Given the description of an element on the screen output the (x, y) to click on. 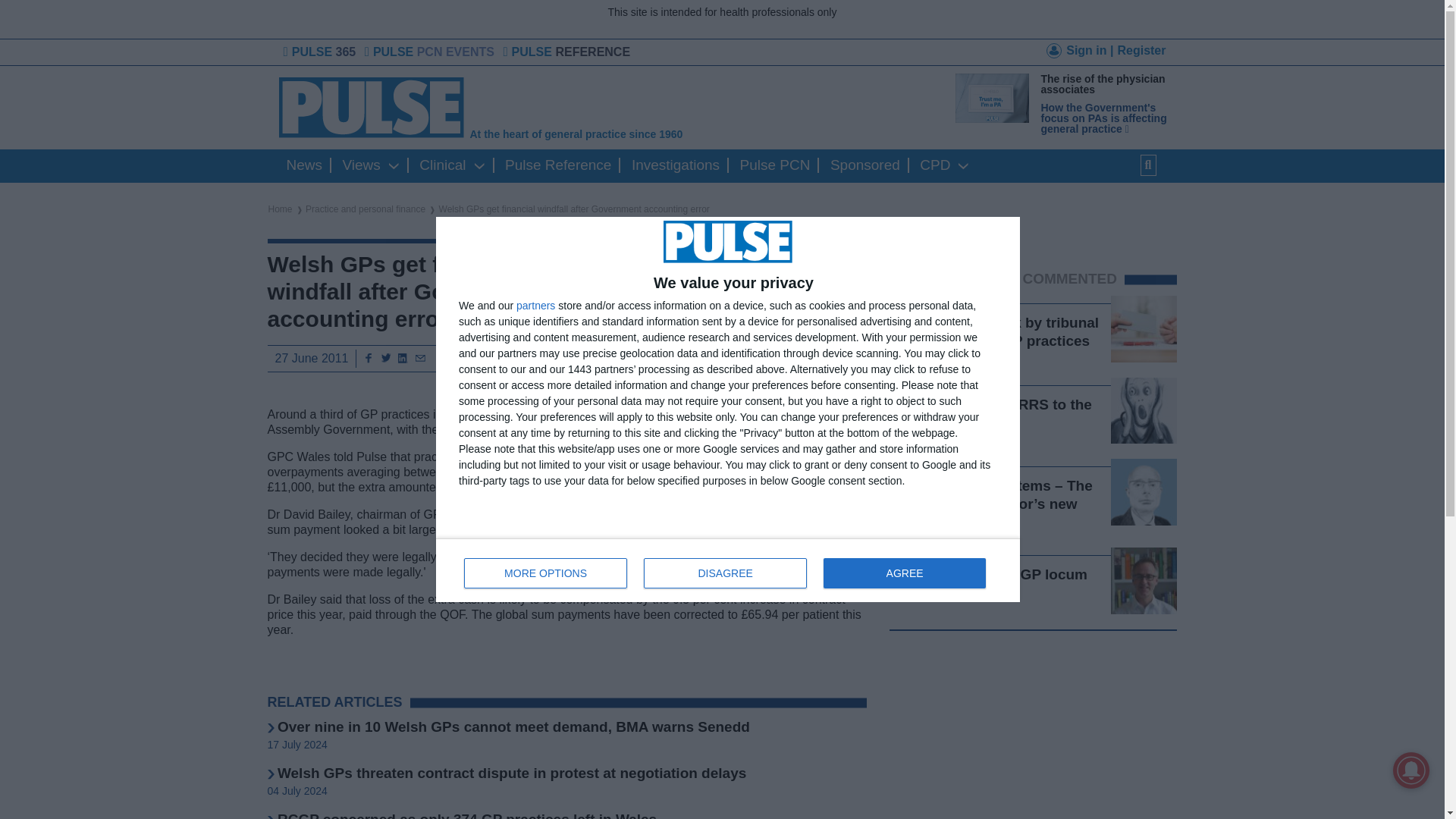
CPD (727, 569)
At the heart of general practice since 1960 (935, 165)
Investigations (564, 107)
Pulse Reference (675, 165)
Sign in (557, 165)
Views (1079, 52)
Clinical (360, 165)
Darzi could send ARRS to the dogs (442, 165)
Pulse PCN (989, 413)
DISAGREE (775, 165)
News (724, 572)
PULSE REFERENCE (304, 165)
partners (568, 51)
